Given the description of an element on the screen output the (x, y) to click on. 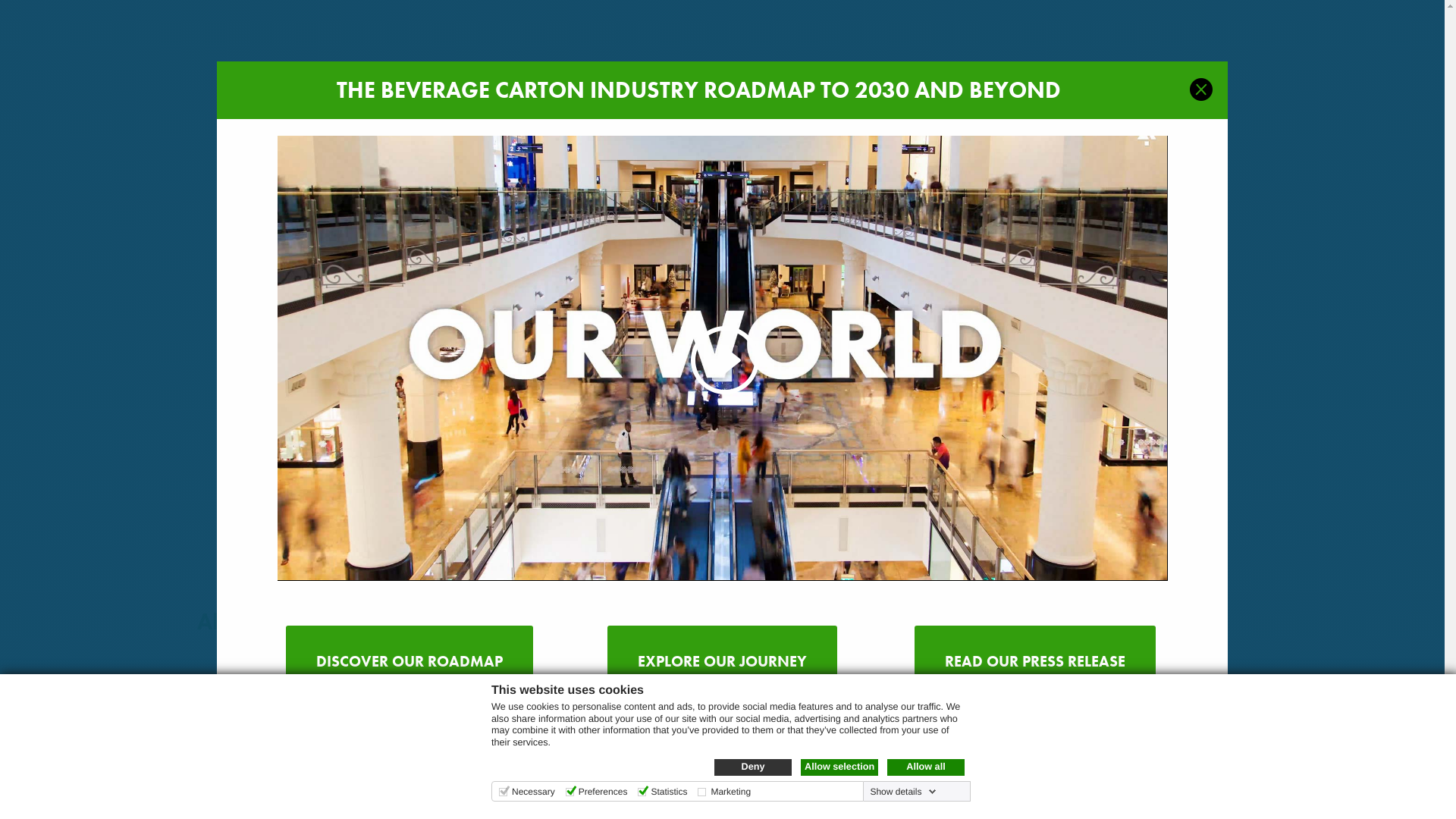
CONTACT US Element type: text (1307, 14)
POLICY AREAS Element type: text (981, 86)
ABOUT BEVERAGE CARTONS Element type: text (847, 86)
HOME Element type: text (655, 86)
Show details Element type: text (902, 791)
Allow all Element type: text (925, 767)
READ OUR PRESS RELEASE Element type: text (1034, 660)
Deny Element type: text (752, 767)
INNOVATION Element type: text (1074, 86)
MEMBERS AREA Element type: text (1378, 14)
NEWS AND RESOURCE CENTRE Element type: text (1206, 86)
DISCOVER OUR ROADMAP Element type: text (409, 660)
EXPLORE OUR JOURNEY Element type: text (722, 660)
ABOUT US Element type: text (721, 86)
Allow selection Element type: text (839, 767)
CAMPAIGNS Element type: text (1343, 86)
